Given the description of an element on the screen output the (x, y) to click on. 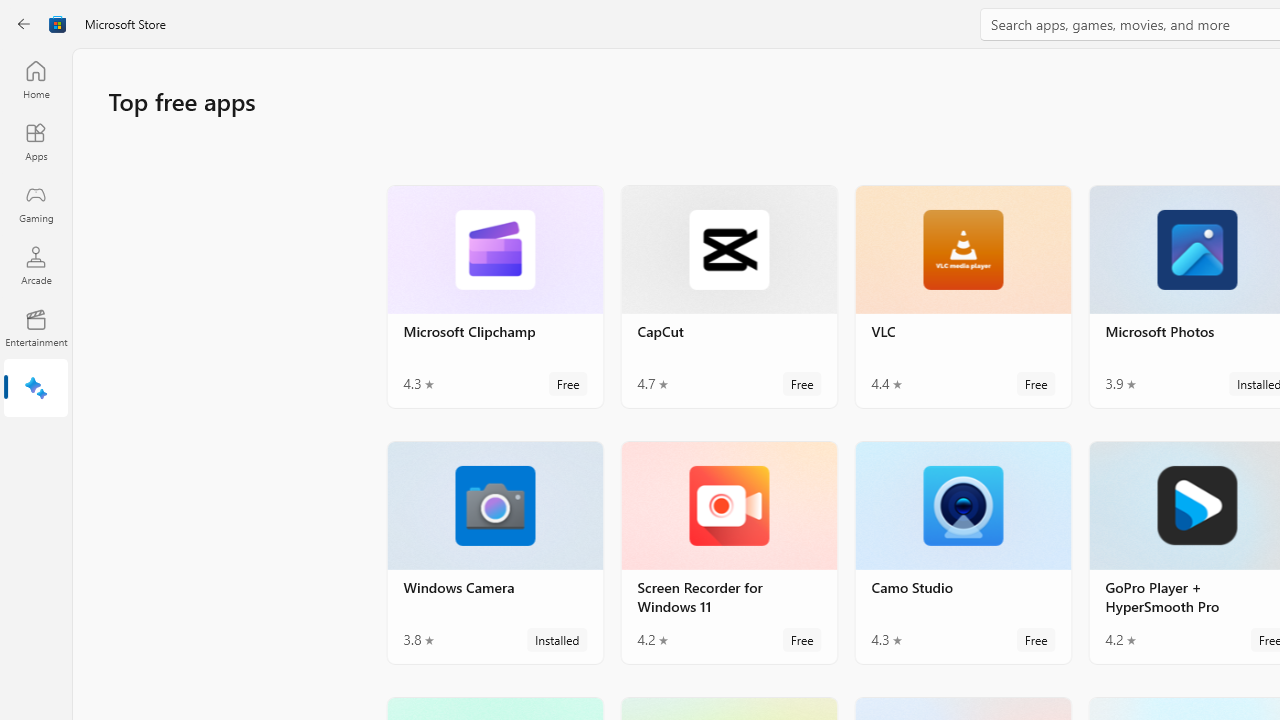
Back (24, 24)
CapCut. Average rating of 4.7 out of five stars. Free   (728, 296)
VLC. Average rating of 4.4 out of five stars. Free   (962, 296)
